Given the description of an element on the screen output the (x, y) to click on. 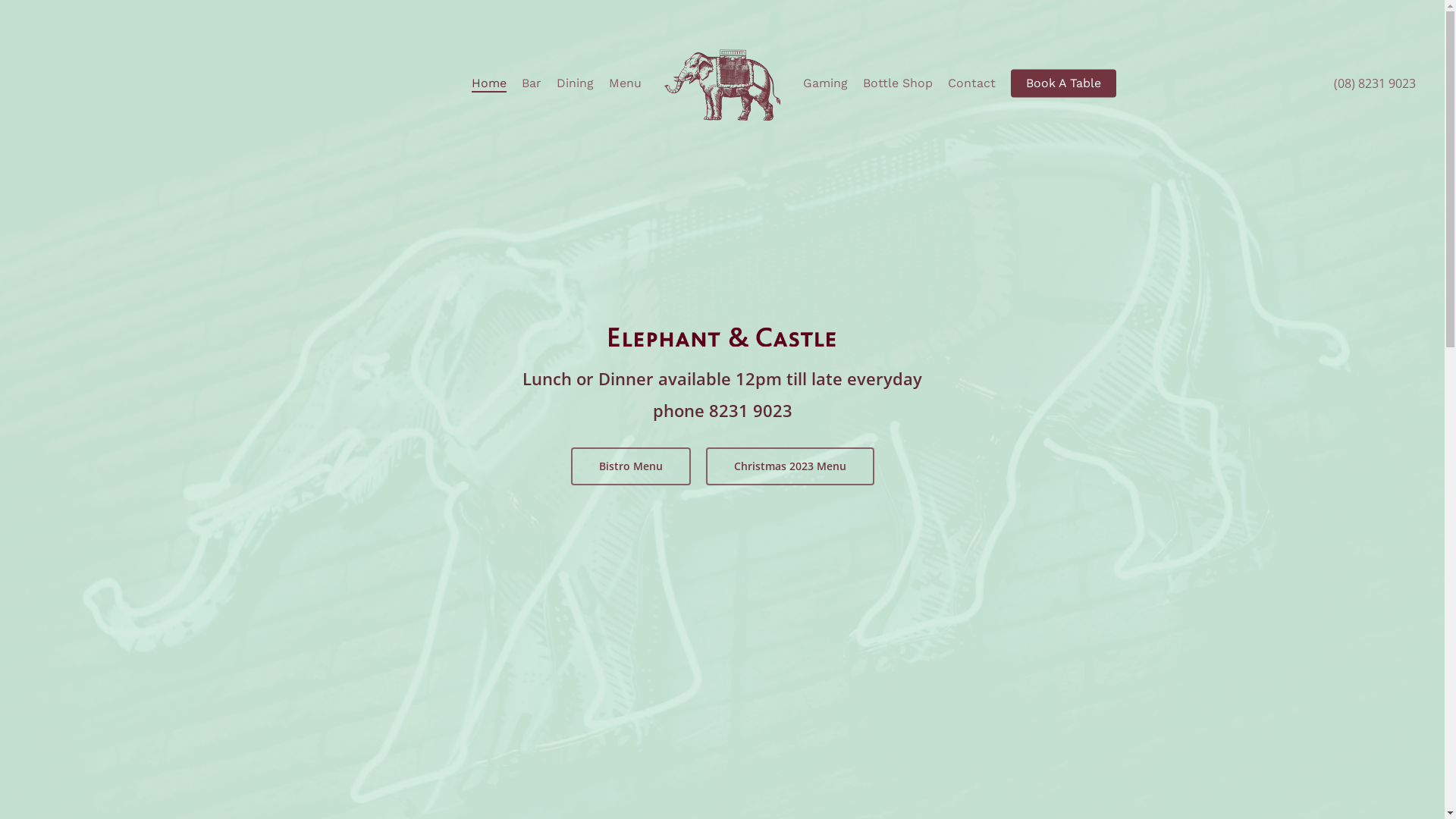
Gaming Element type: text (824, 83)
Dining Element type: text (574, 83)
Bottle Shop Element type: text (897, 83)
Christmas 2023 Menu Element type: text (789, 466)
Home Element type: text (488, 83)
Menu Element type: text (624, 83)
Contact Element type: text (971, 83)
Bar Element type: text (531, 83)
(08) 8231 9023 Element type: text (1374, 83)
Bistro Menu Element type: text (630, 466)
Book A Table Element type: text (1062, 83)
